Given the description of an element on the screen output the (x, y) to click on. 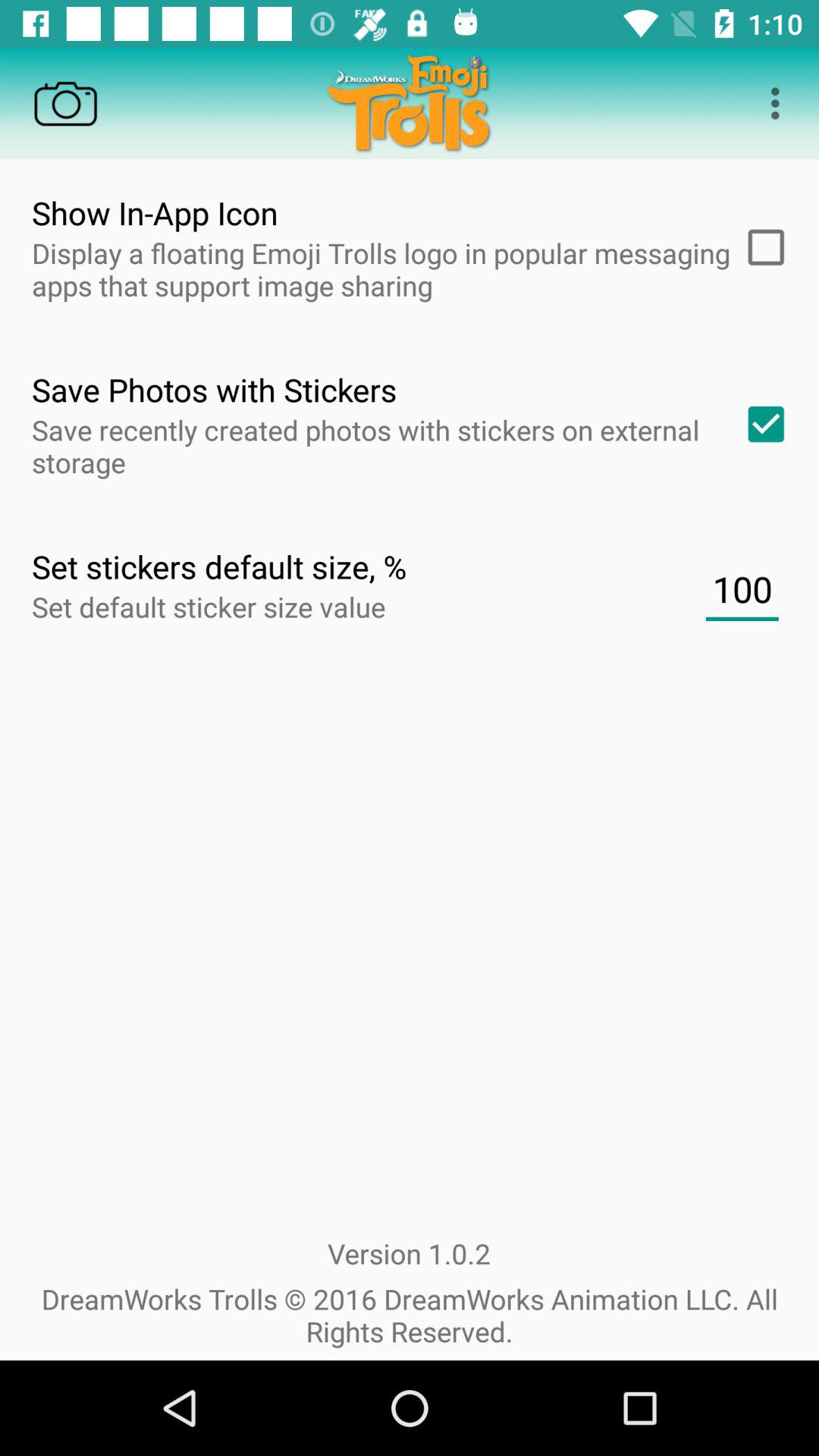
select item on the right (741, 589)
